Given the description of an element on the screen output the (x, y) to click on. 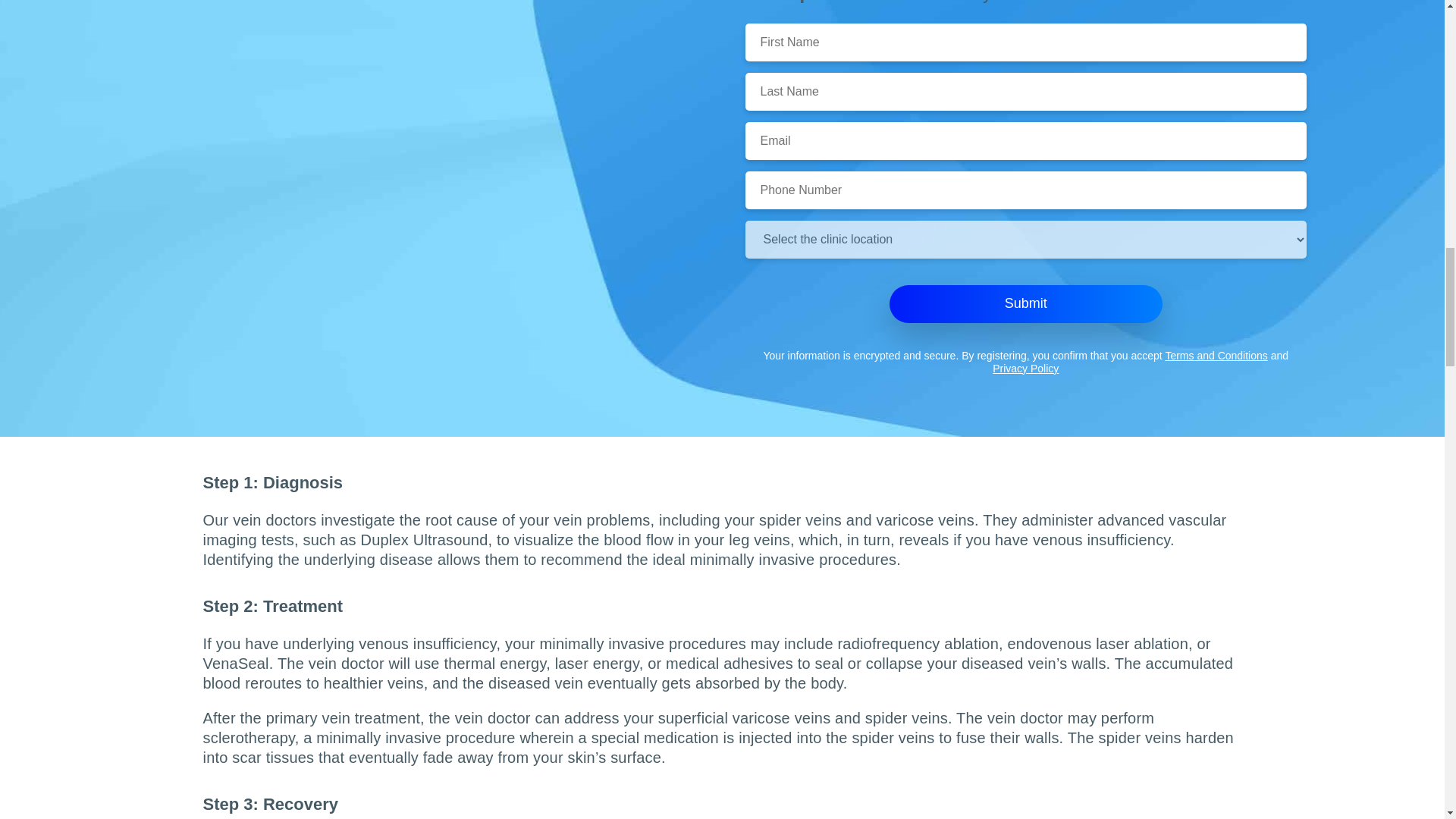
Please enter up to 10 digits, spaces are allowed. (1025, 190)
Form-Legs (418, 431)
